Given the description of an element on the screen output the (x, y) to click on. 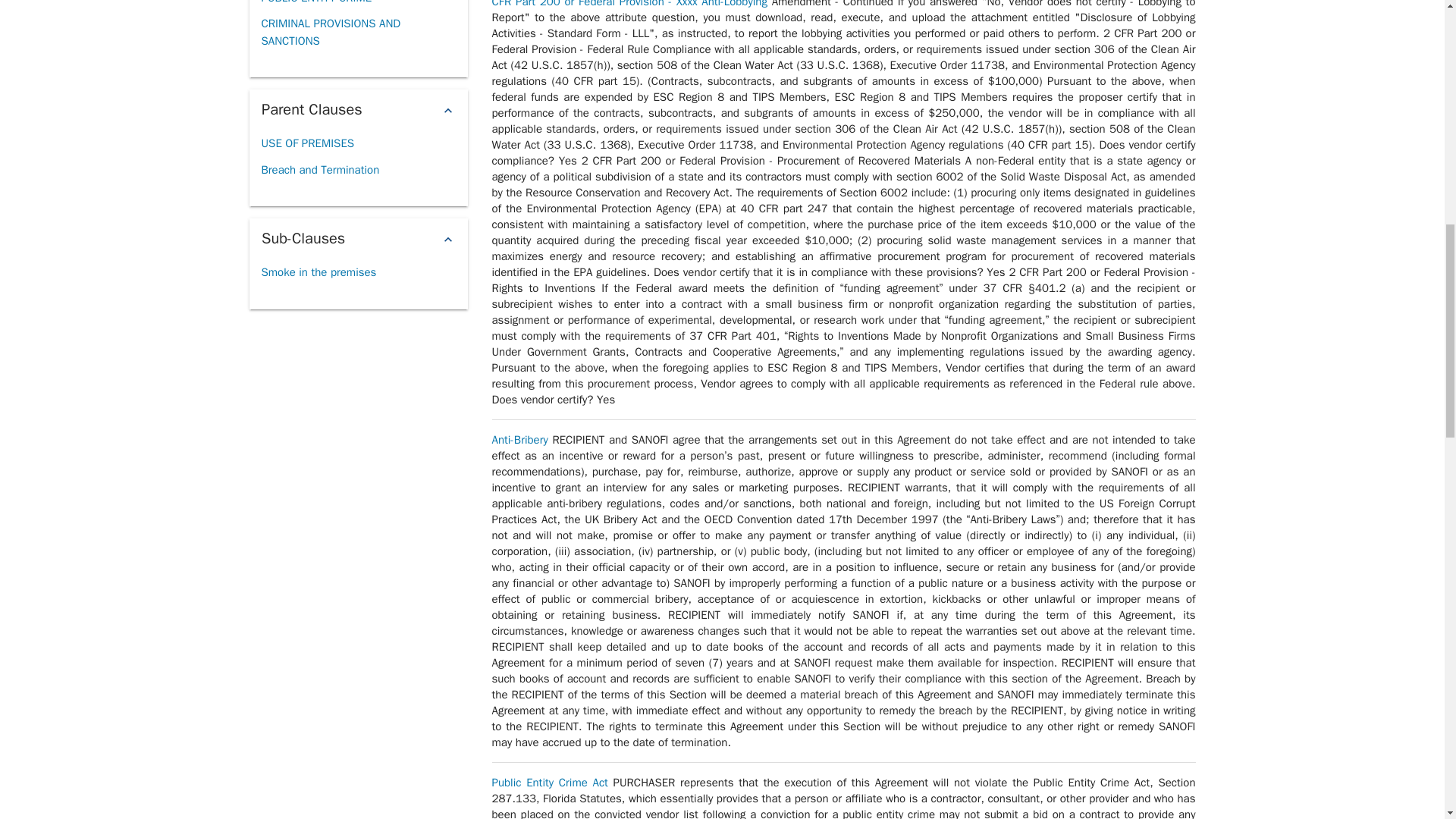
Smoke in the premises (317, 272)
CRIMINAL PROVISIONS AND SANCTIONS (357, 32)
PUBLIC ENTITY CRIME (315, 5)
Breach and Termination (319, 170)
USE OF PREMISES (306, 143)
